Given the description of an element on the screen output the (x, y) to click on. 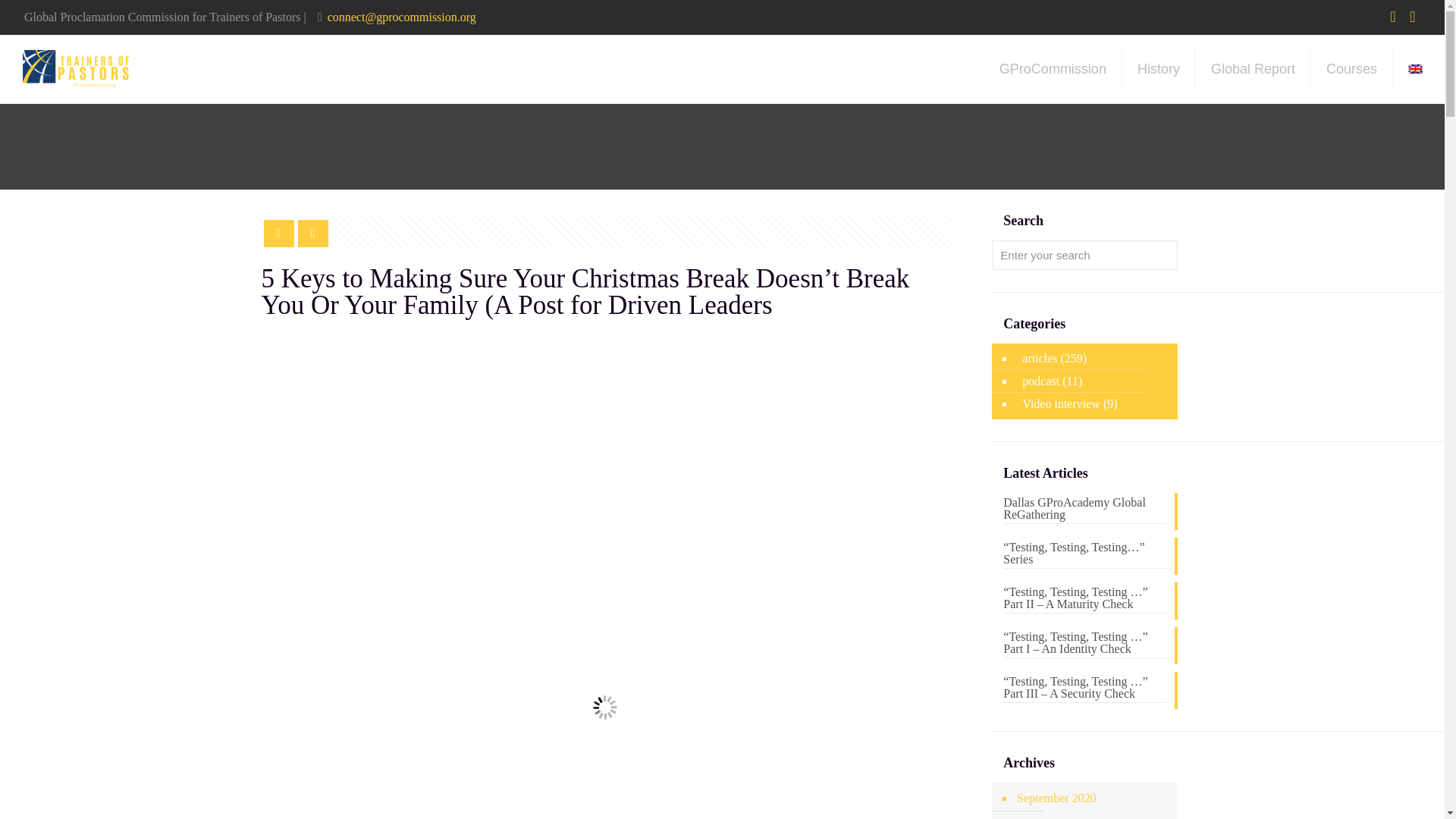
Instagram (1413, 18)
Courses (1352, 69)
Facebook (1393, 18)
Global Report (1253, 69)
History (1158, 69)
GProCommission (1053, 69)
GProCommission (75, 69)
